Given the description of an element on the screen output the (x, y) to click on. 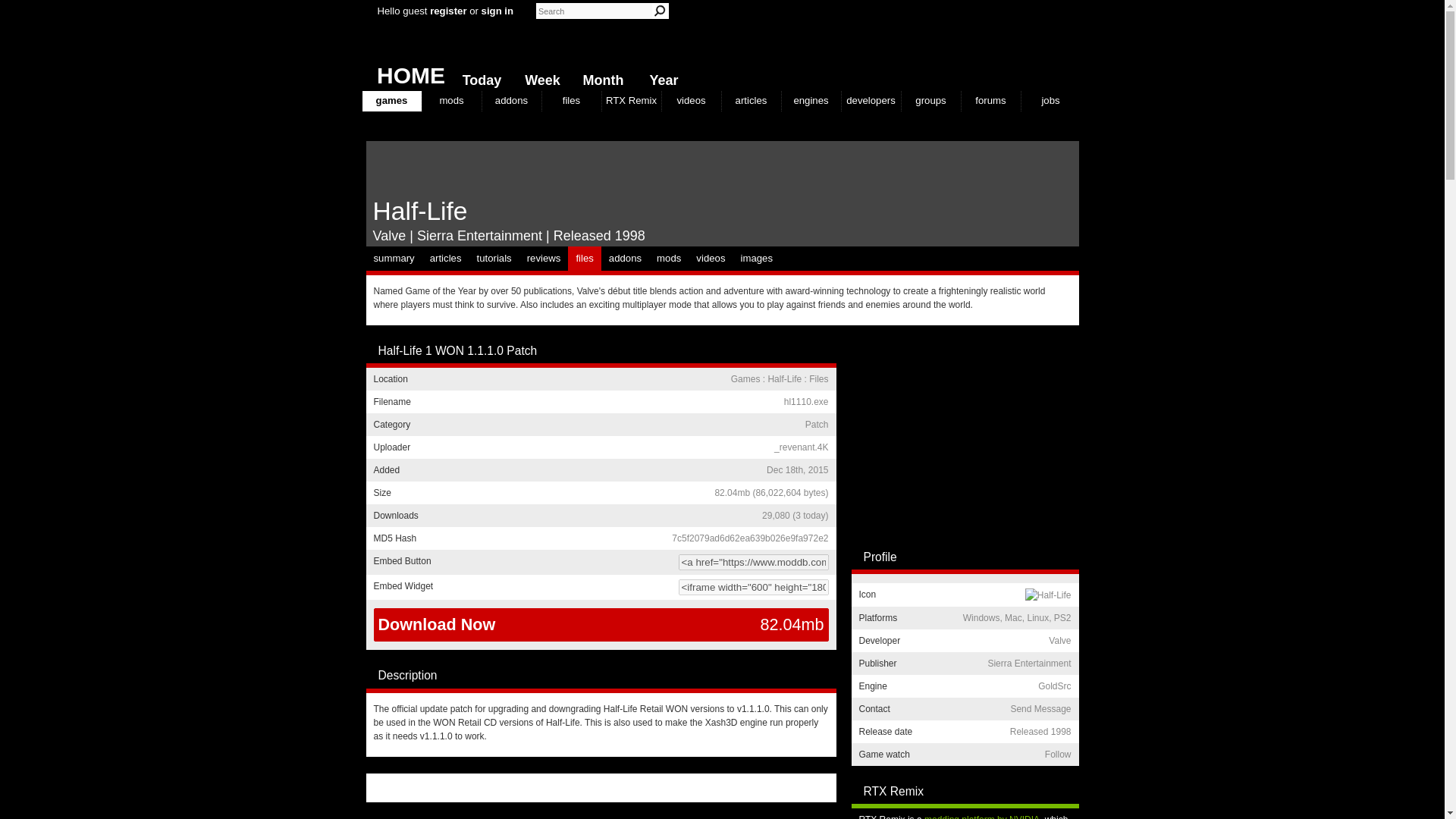
files (570, 100)
Add file (813, 350)
Week (539, 76)
Month (599, 76)
New today (478, 76)
games (392, 100)
RTX Remix (631, 100)
videos (690, 100)
sign in (497, 10)
mods (451, 100)
Search (660, 10)
New this week (539, 76)
ModDB Home (965, 45)
addons (511, 100)
